Given the description of an element on the screen output the (x, y) to click on. 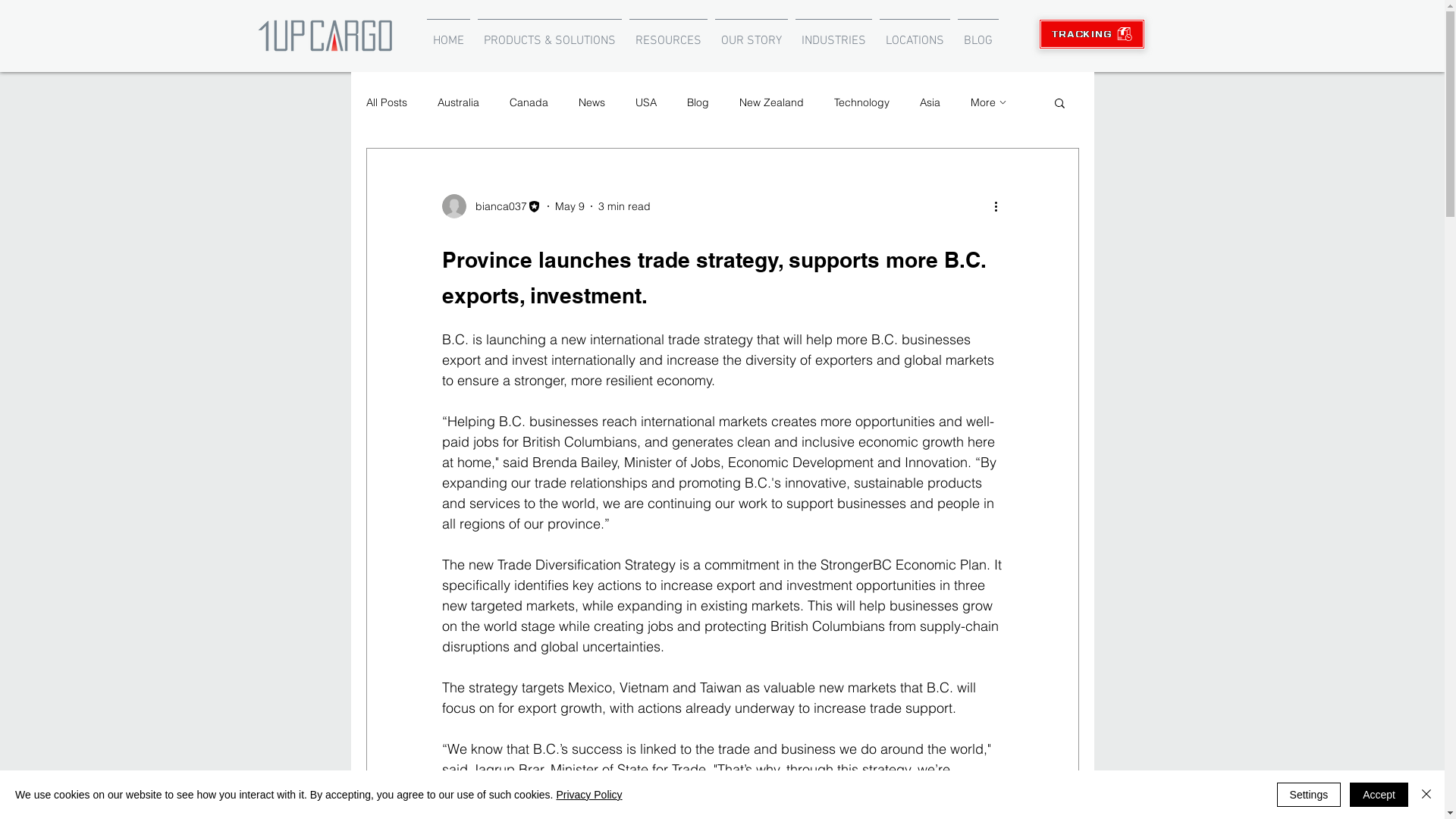
LOCATIONS Element type: text (914, 33)
Technology Element type: text (861, 102)
RESOURCES Element type: text (667, 33)
Asia Element type: text (929, 102)
HOME Element type: text (448, 33)
Australia Element type: text (457, 102)
Settings Element type: text (1309, 794)
PRODUCTS & SOLUTIONS Element type: text (548, 33)
Privacy Policy Element type: text (588, 794)
USA Element type: text (645, 102)
Canada Element type: text (528, 102)
All Posts Element type: text (385, 102)
BLOG Element type: text (977, 33)
Accept Element type: text (1378, 794)
Blog Element type: text (698, 102)
INDUSTRIES Element type: text (833, 33)
bianca037 Element type: text (490, 206)
OUR STORY Element type: text (751, 33)
TRACKING Element type: text (1091, 33)
News Element type: text (590, 102)
New Zealand Element type: text (770, 102)
